Given the description of an element on the screen output the (x, y) to click on. 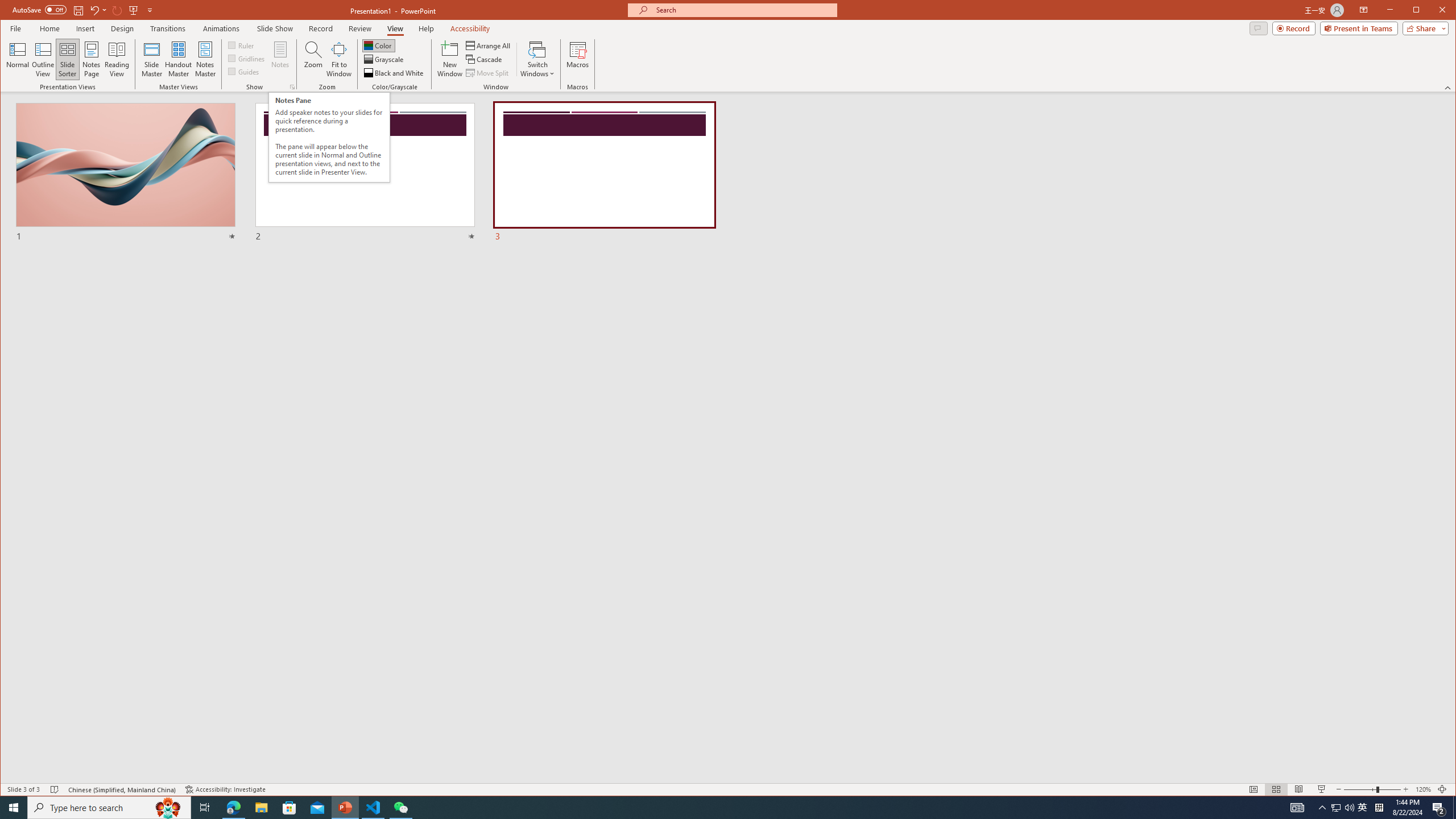
Grayscale (384, 59)
Running applications (707, 807)
Q2790: 100% (1349, 807)
Handout Master (178, 59)
Color (378, 45)
